Given the description of an element on the screen output the (x, y) to click on. 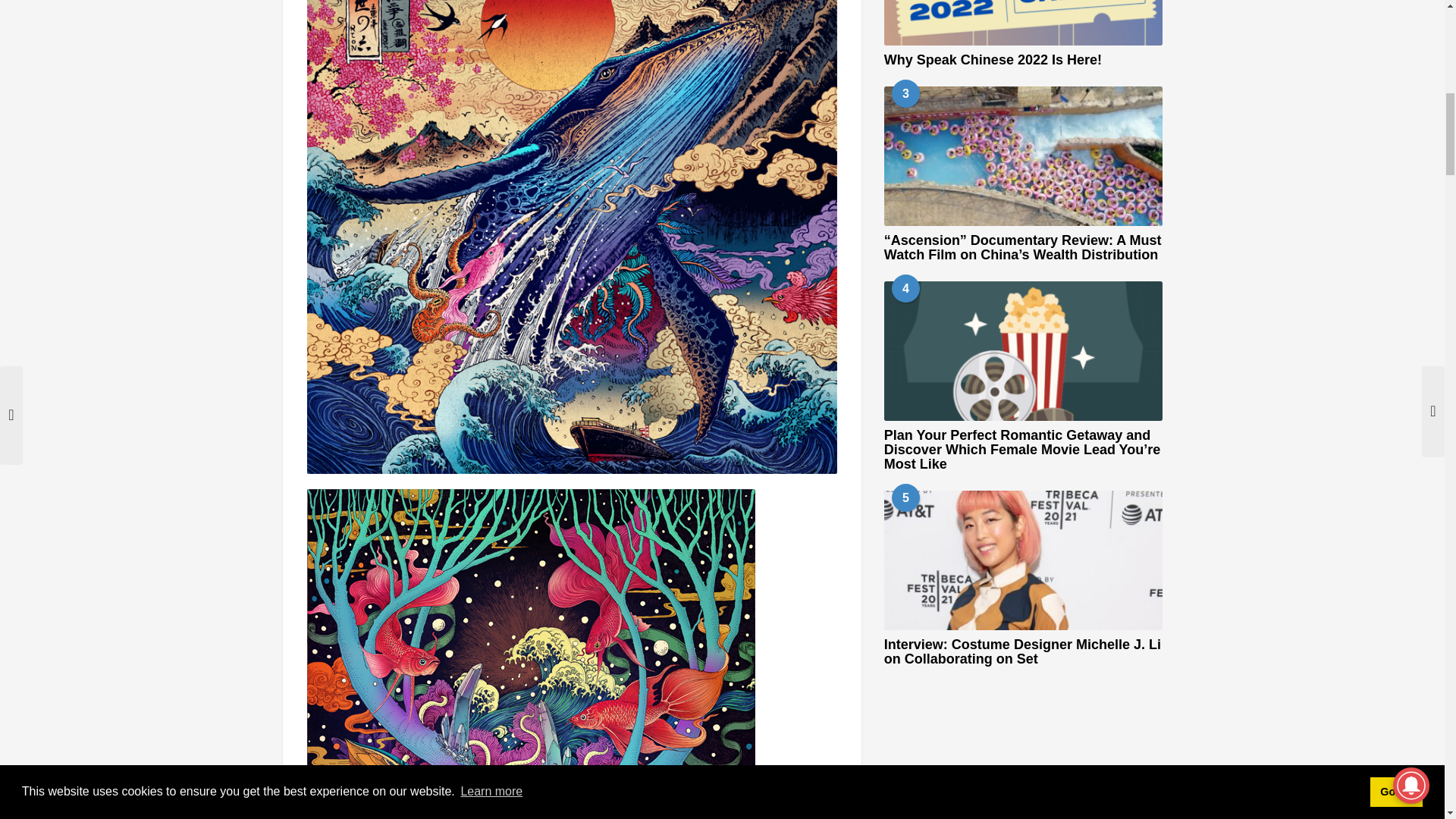
Why Speak Chinese 2022 Is Here! (1022, 22)
